Given the description of an element on the screen output the (x, y) to click on. 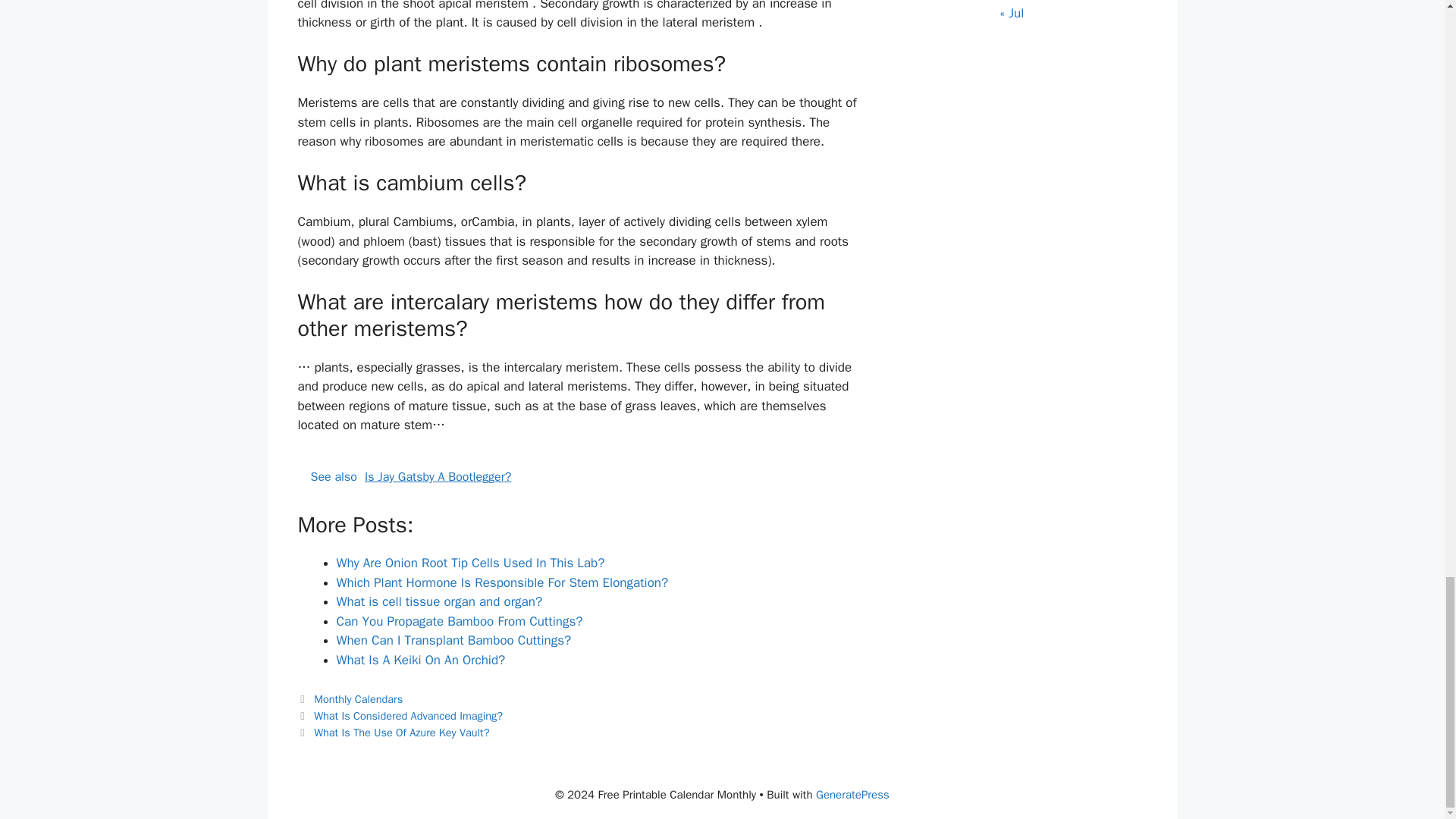
Which Plant Hormone Is Responsible For Stem Elongation? (502, 582)
Why Are Onion Root Tip Cells Used In This Lab? (470, 562)
See also  Is Jay Gatsby A Bootlegger? (579, 476)
What is cell tissue organ and organ? (439, 601)
